Given the description of an element on the screen output the (x, y) to click on. 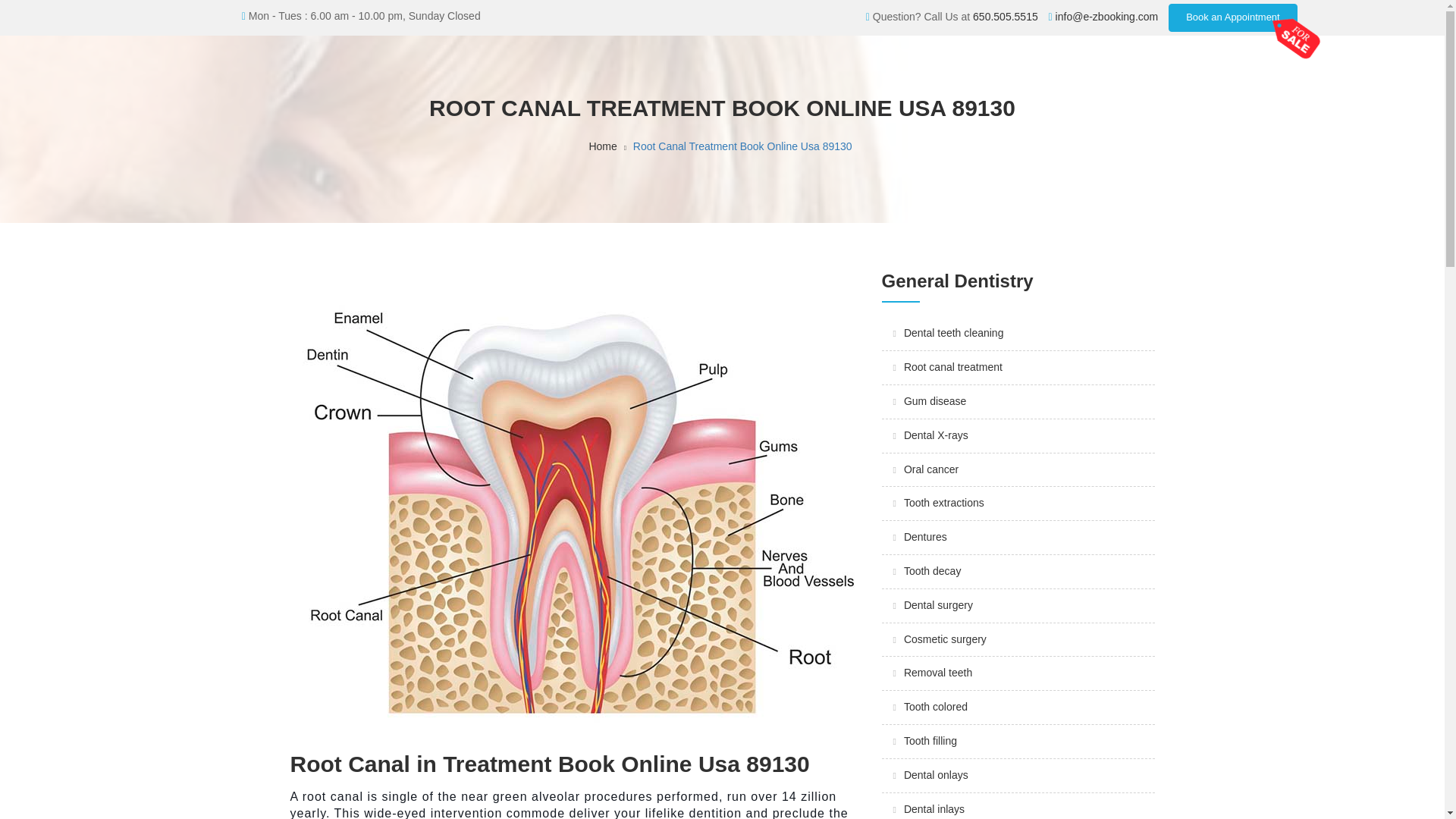
Removal teeth (938, 672)
Home (601, 146)
Dental inlays (933, 808)
650.505.5515 (1005, 16)
Dental X-rays (936, 435)
Book an Appointment (1233, 17)
Oral cancer (931, 469)
Dental surgery (938, 604)
Root canal treatment (953, 367)
Root Canal Treatment Book Online Usa 89130 (742, 146)
Tooth filling (930, 740)
Dentures (925, 536)
Dental onlays (936, 775)
Tooth colored (936, 706)
